Given the description of an element on the screen output the (x, y) to click on. 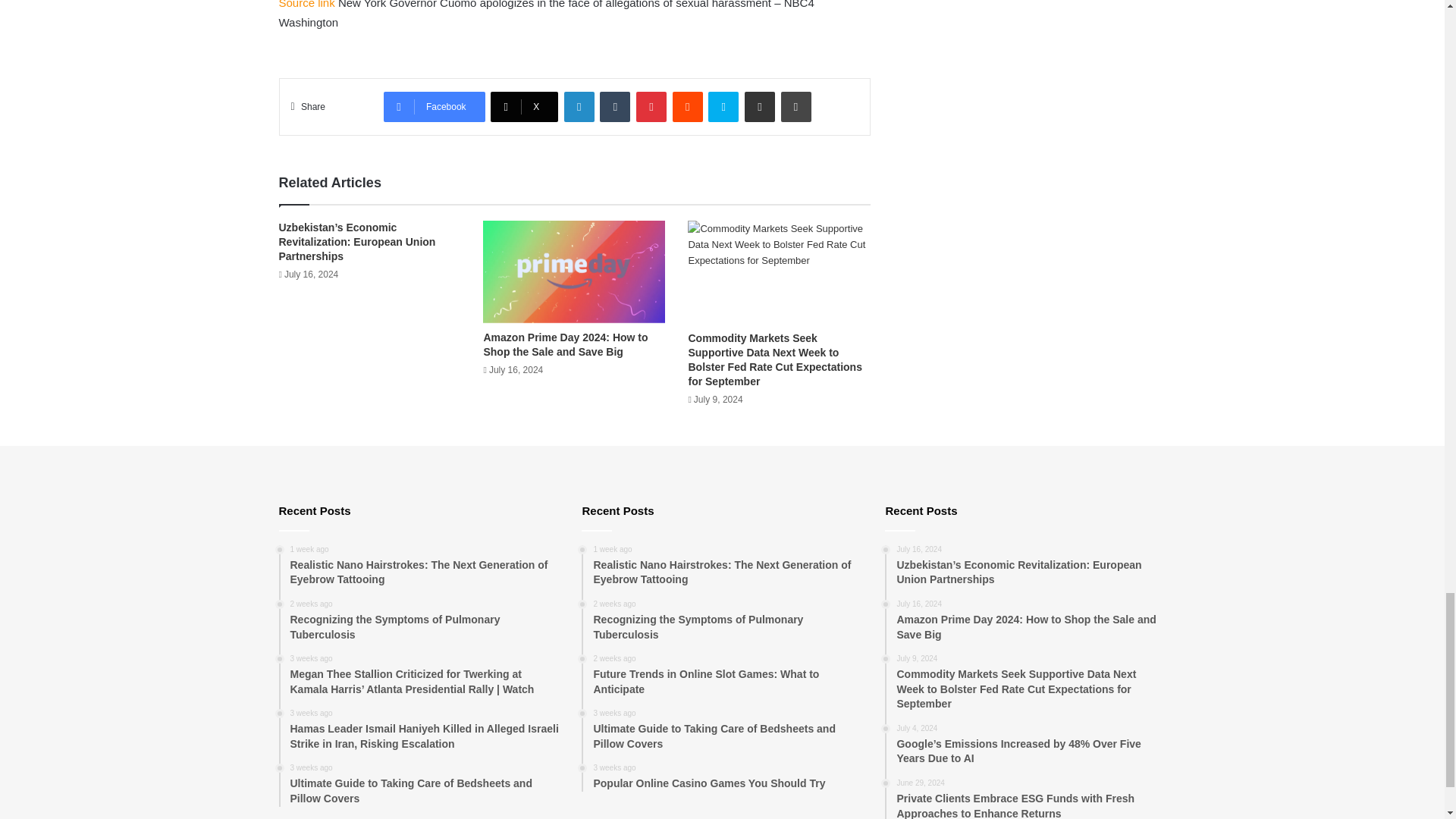
Tumblr (614, 106)
Reddit (687, 106)
Skype (722, 106)
Reddit (687, 106)
X (523, 106)
LinkedIn (579, 106)
Tumblr (614, 106)
Facebook (434, 106)
Facebook (434, 106)
Skype (722, 106)
